Given the description of an element on the screen output the (x, y) to click on. 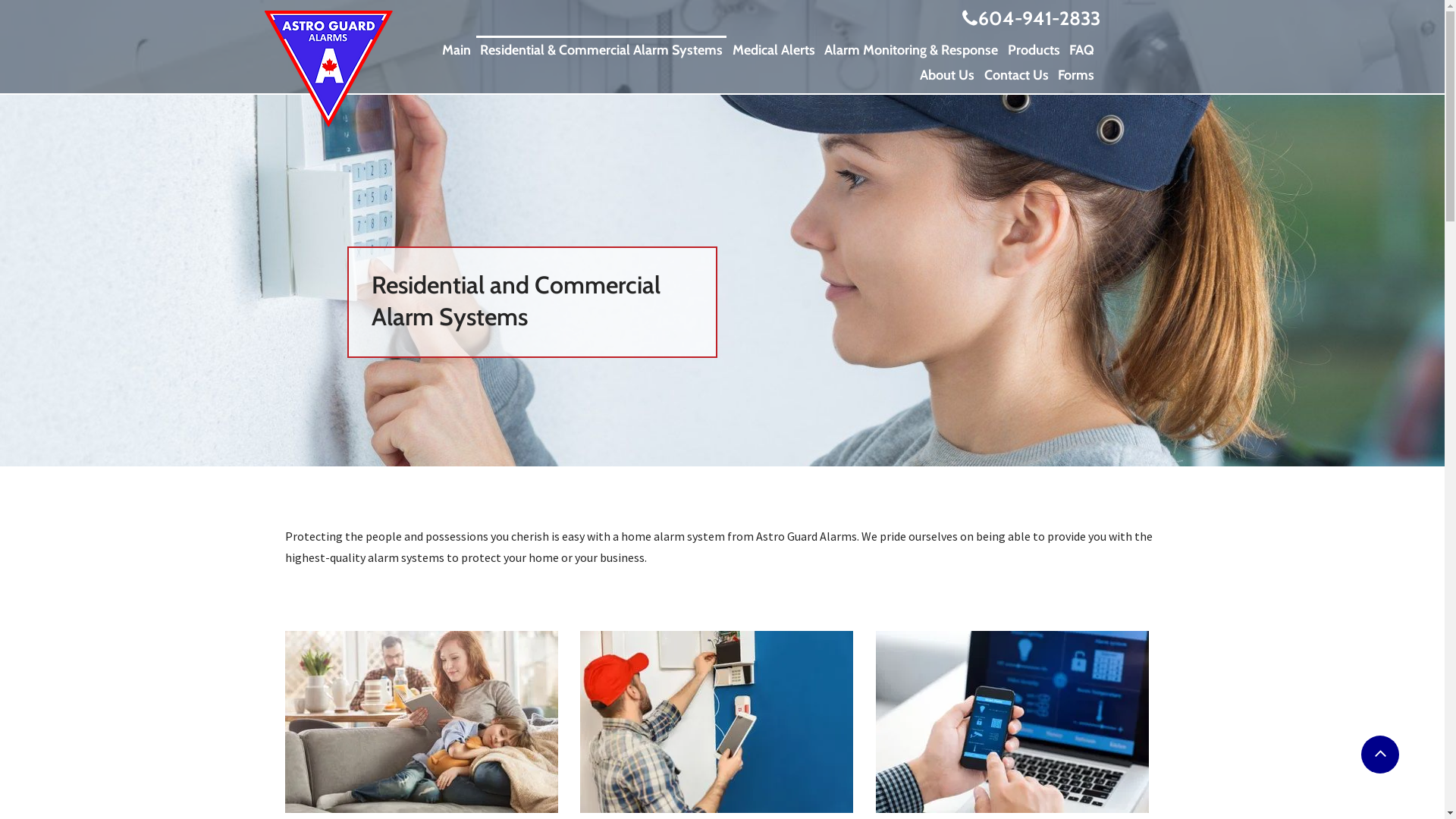
FAQ Element type: text (1081, 47)
Products Element type: text (1033, 47)
Forms Element type: text (1076, 72)
Medical Alerts Element type: text (773, 47)
Contact Us Element type: text (1015, 72)
Residential & Commercial Alarm Systems Element type: text (601, 47)
Alarm Monitoring & Response Element type: text (910, 47)
Main Element type: text (456, 47)
About Us Element type: text (947, 72)
604-941-2833 Element type: text (1029, 17)
